Given the description of an element on the screen output the (x, y) to click on. 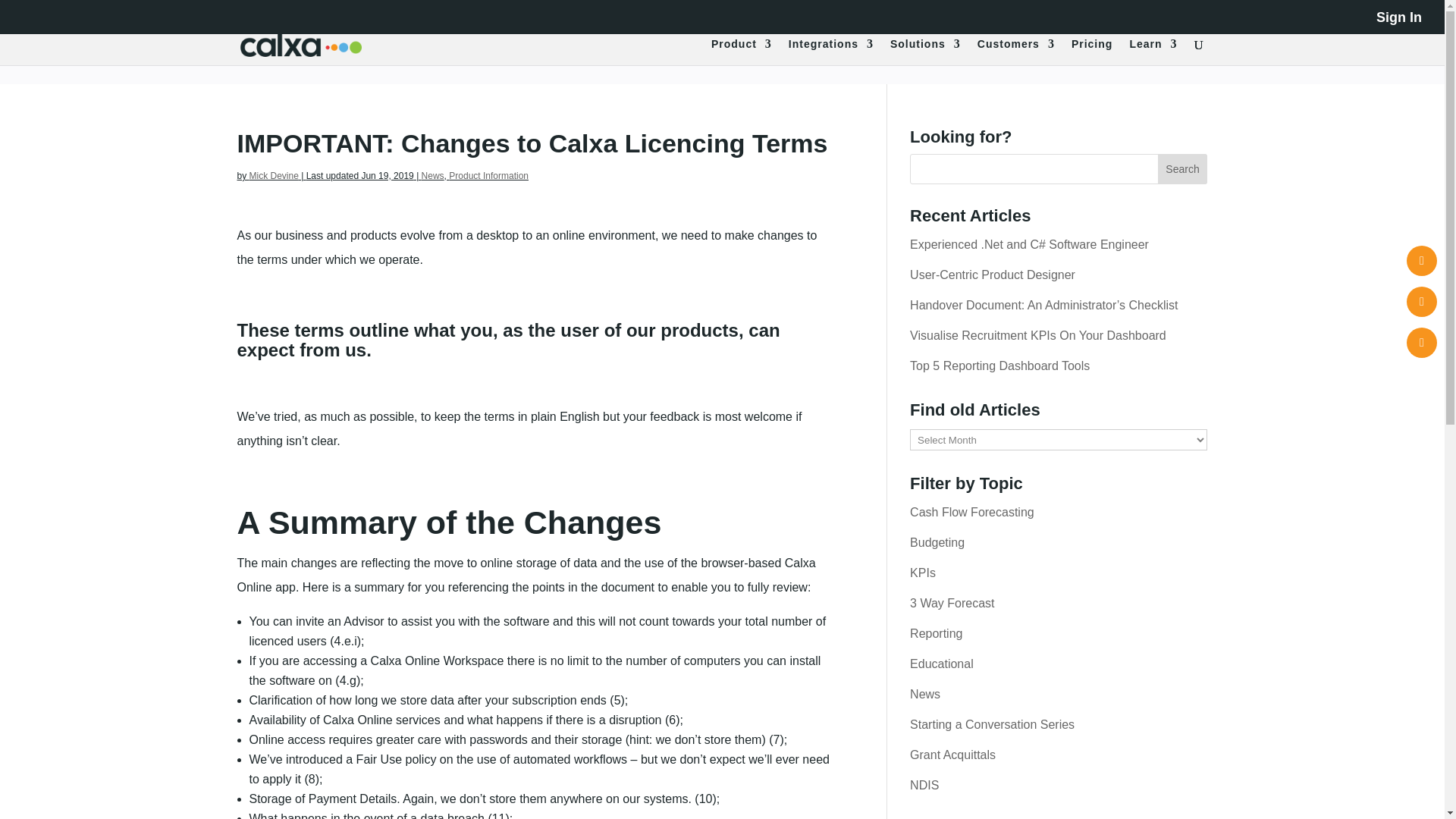
Product Information (488, 175)
News (433, 175)
Product (741, 51)
Learn (1152, 51)
Solutions (924, 51)
Mick Devine (273, 175)
Customers (1015, 51)
Search (1182, 168)
Integrations (831, 51)
Search (1182, 168)
